Given the description of an element on the screen output the (x, y) to click on. 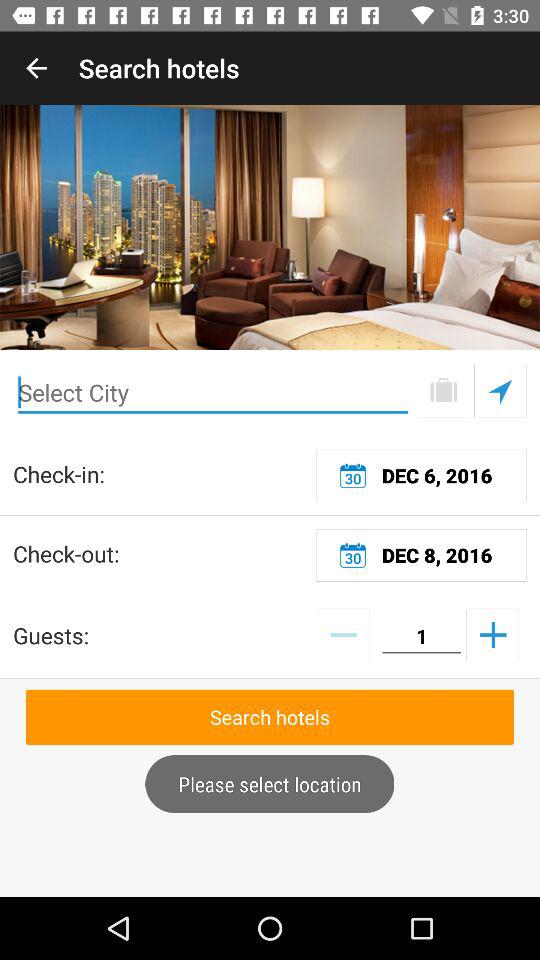
city enter (213, 392)
